Given the description of an element on the screen output the (x, y) to click on. 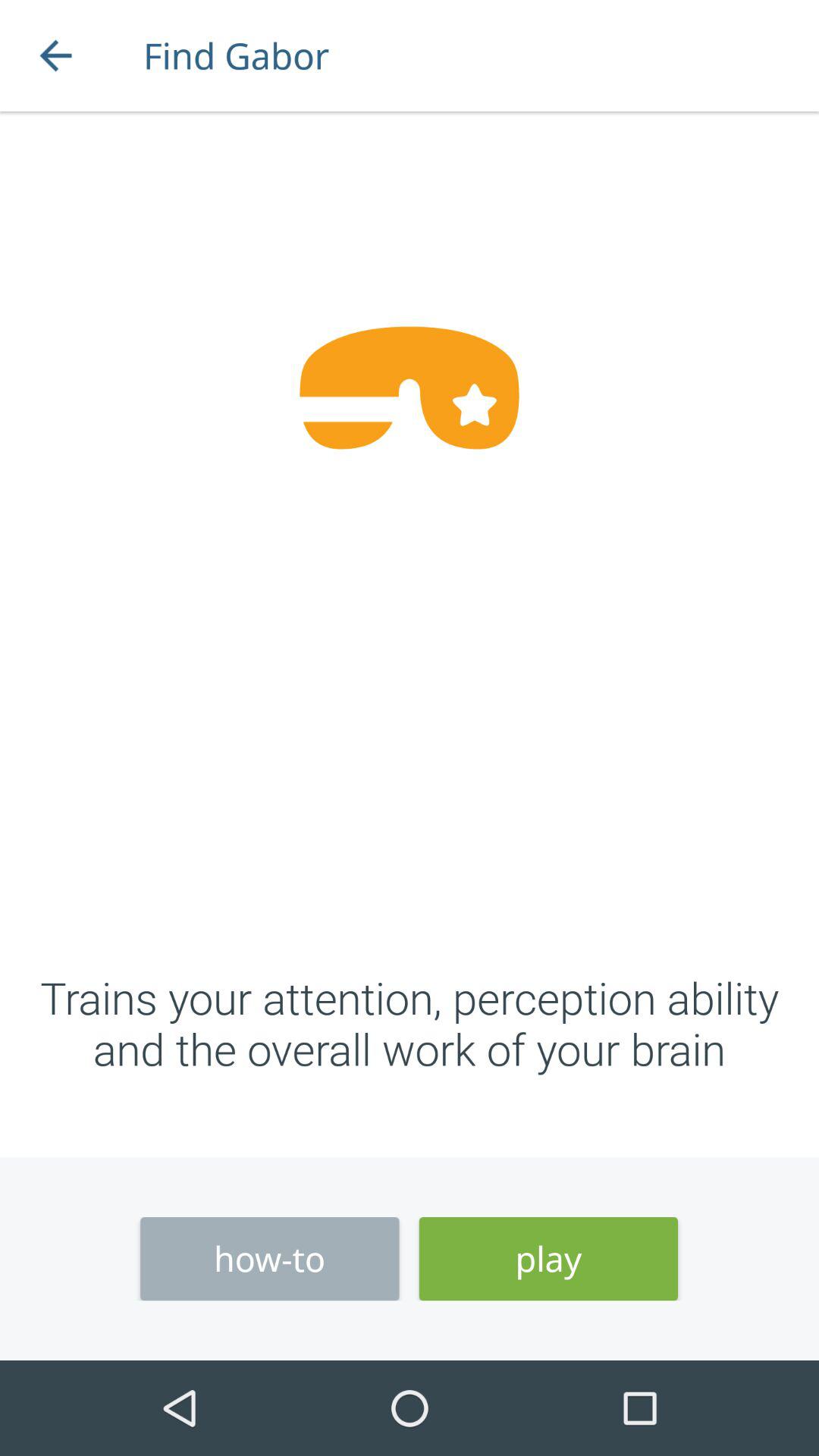
tap item next to the find gabor (55, 55)
